Given the description of an element on the screen output the (x, y) to click on. 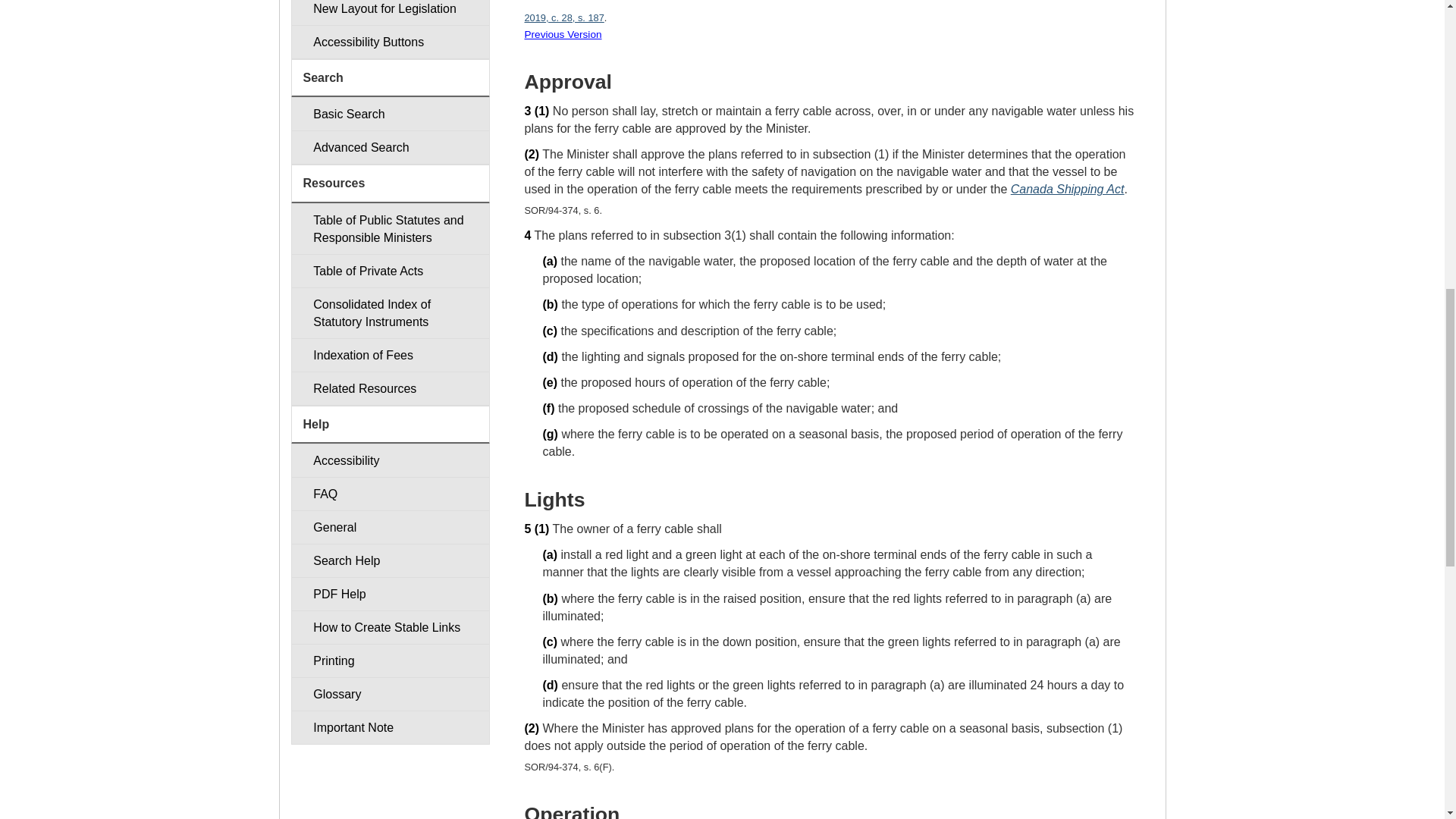
4 (527, 235)
Accessibility Help (390, 460)
2019, c. 28, s. 187 (564, 17)
Printing Help (390, 660)
Frequently Asked Questions (390, 493)
Advanced Search - Justice Laws Website (390, 147)
General Help (390, 527)
Search - Justice Laws Website (390, 114)
Previous Version (563, 34)
3 (527, 110)
Link to previous version of section 2 (563, 34)
Related Resources (390, 388)
Canada Shipping Act (1067, 188)
5 (527, 528)
